Given the description of an element on the screen output the (x, y) to click on. 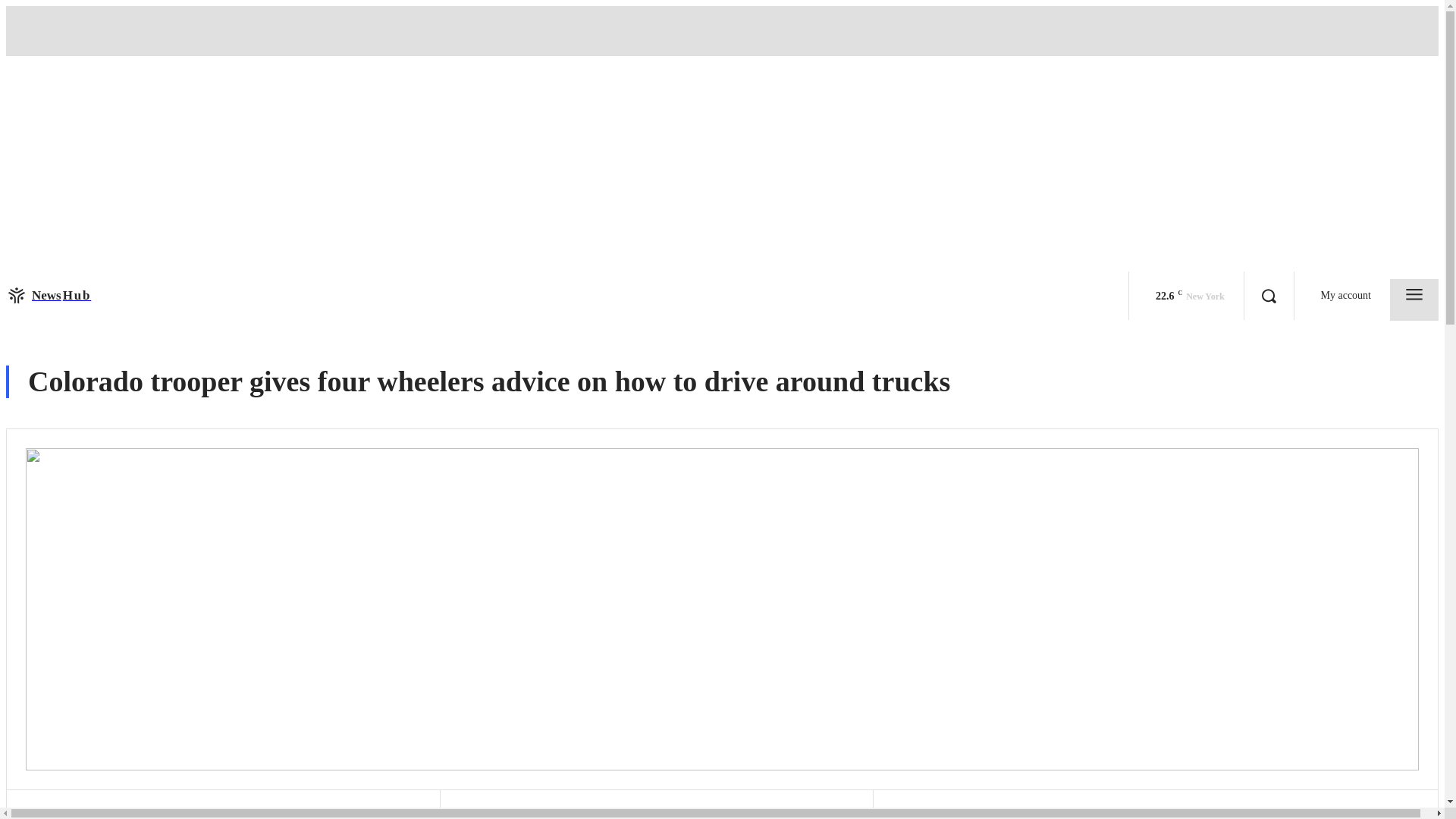
Ashley (483, 814)
